Given the description of an element on the screen output the (x, y) to click on. 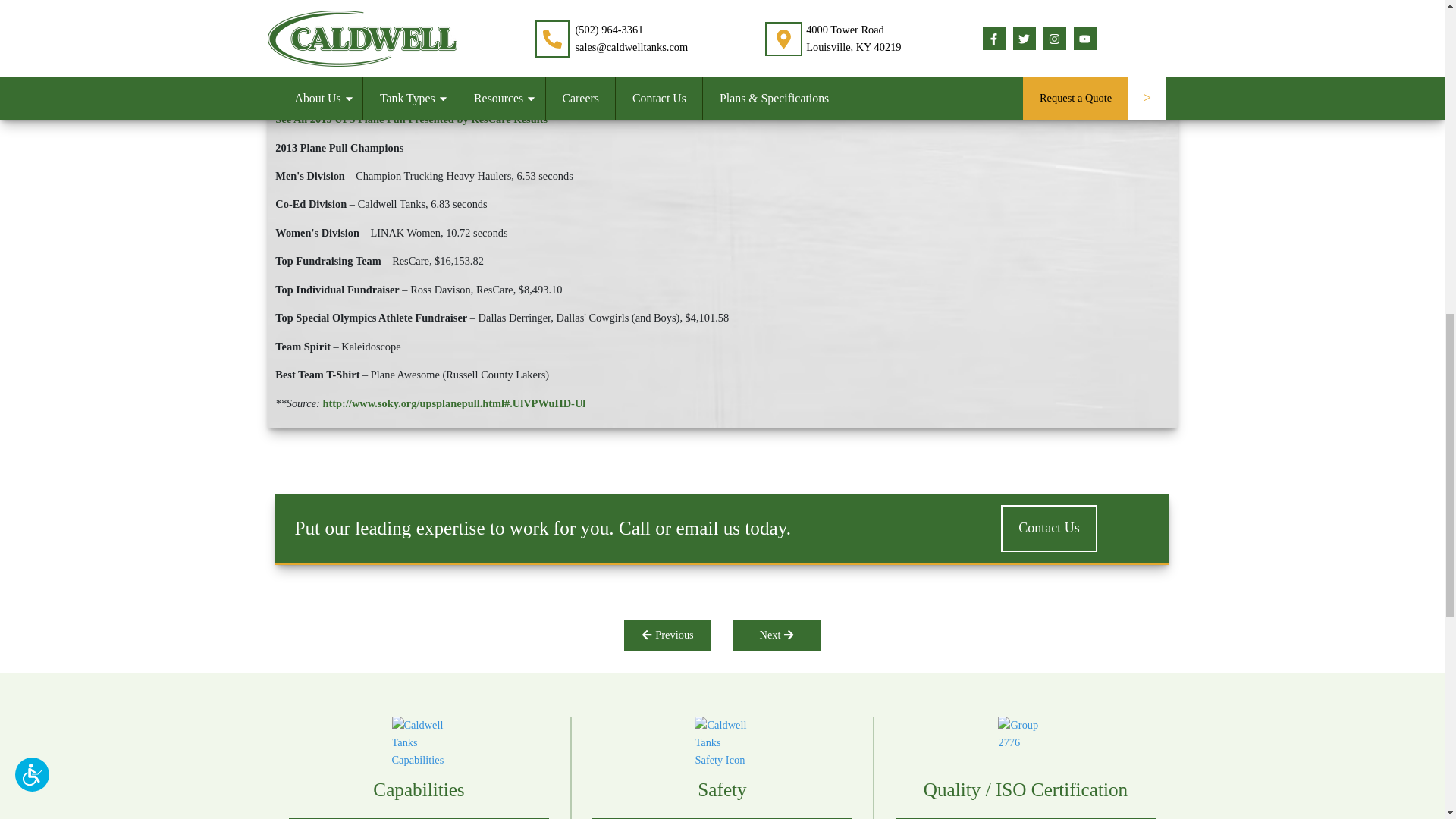
Learn More about our ISO Certification (1024, 767)
Learn More about our safety initiatives (721, 767)
Learn More about our capabilities (418, 767)
